Given the description of an element on the screen output the (x, y) to click on. 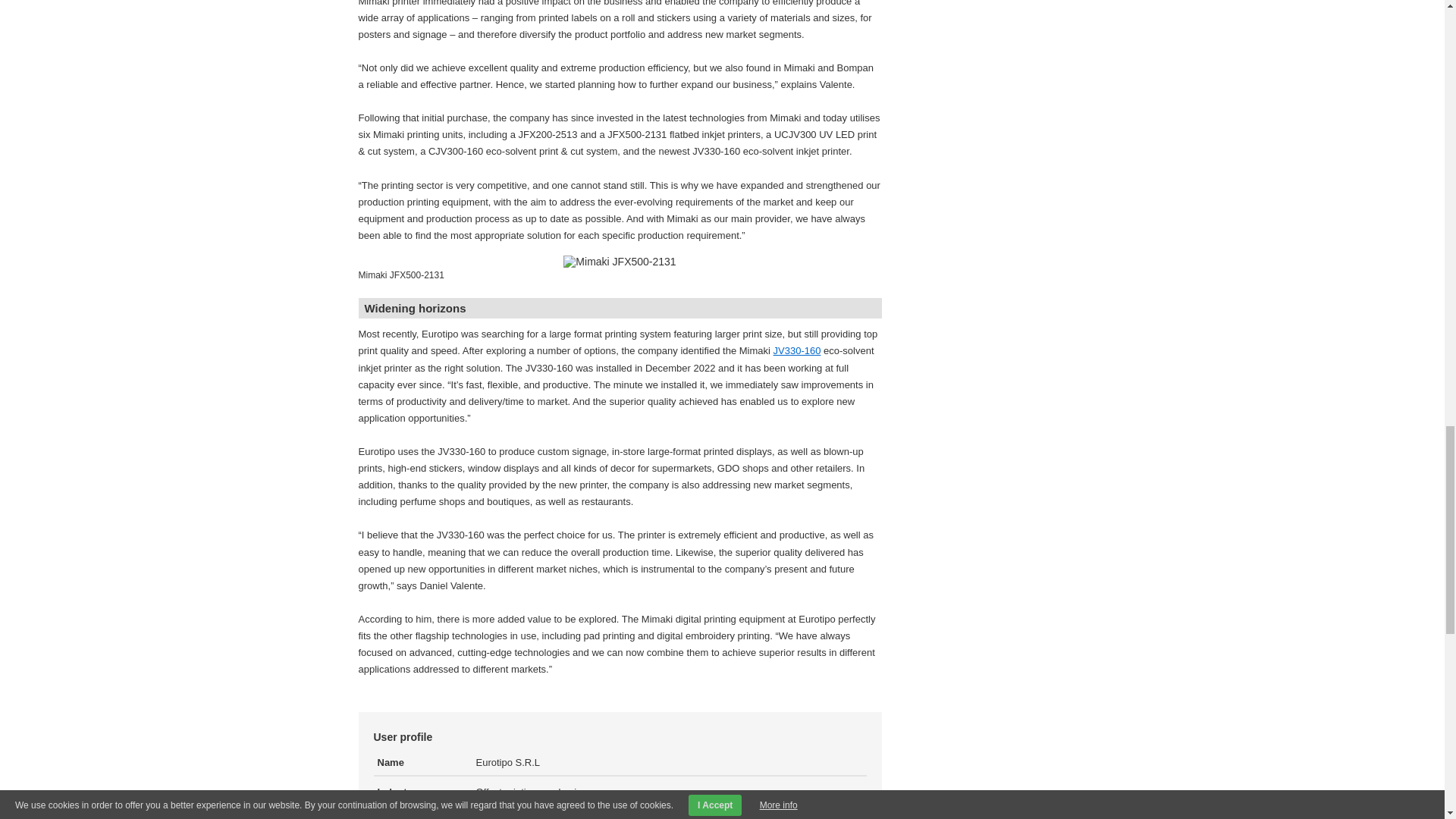
JV330-160 (797, 350)
